Given the description of an element on the screen output the (x, y) to click on. 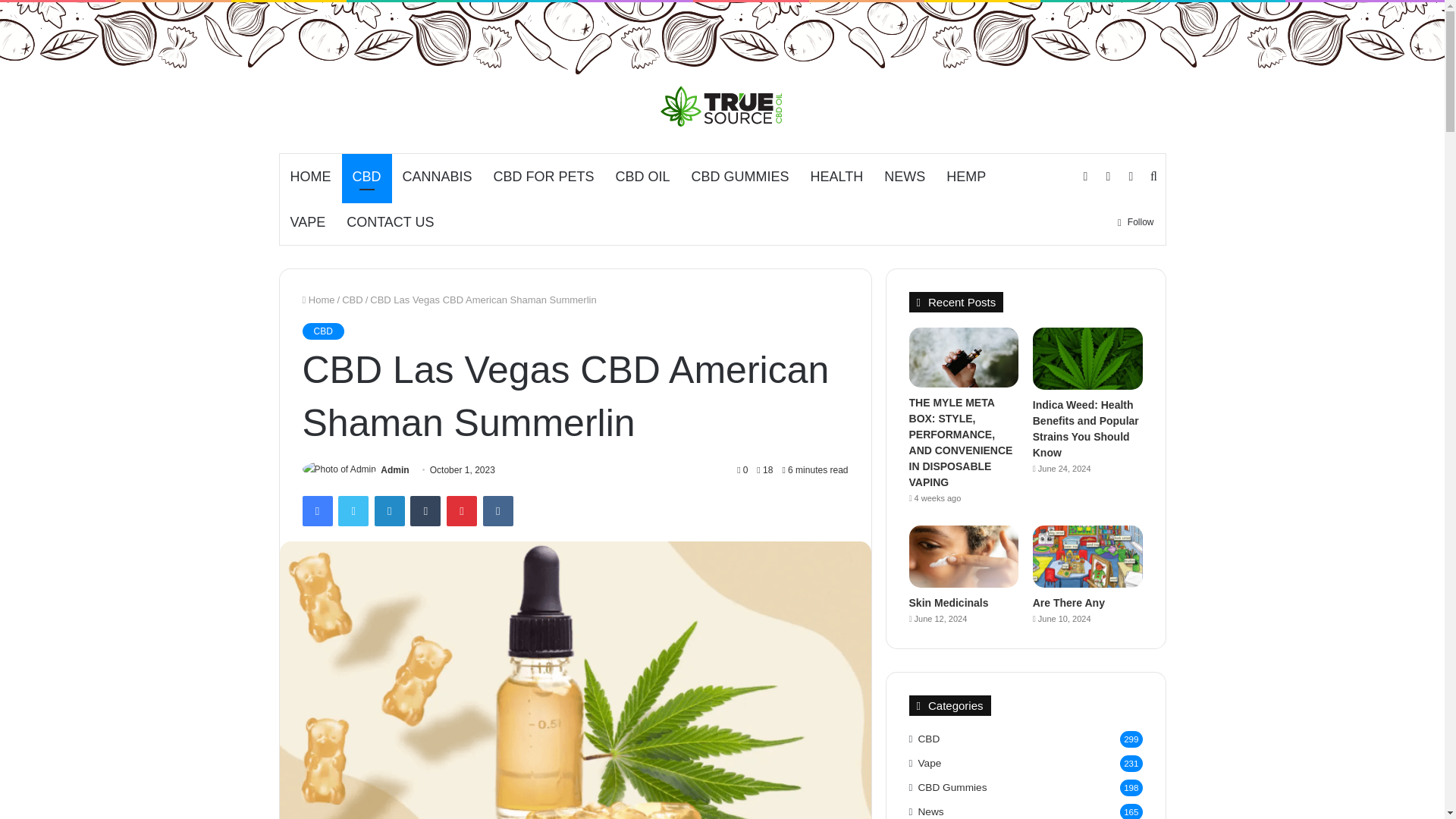
Admin (394, 470)
Twitter (352, 511)
Home (317, 299)
Facebook (316, 511)
TRUE SOURCE CBD OIL (722, 105)
HOME (309, 176)
CBD (352, 299)
Twitter (352, 511)
VKontakte (498, 511)
Tumblr (425, 511)
Admin (394, 470)
VAPE (307, 221)
CBD (322, 330)
Facebook (316, 511)
VKontakte (498, 511)
